Given the description of an element on the screen output the (x, y) to click on. 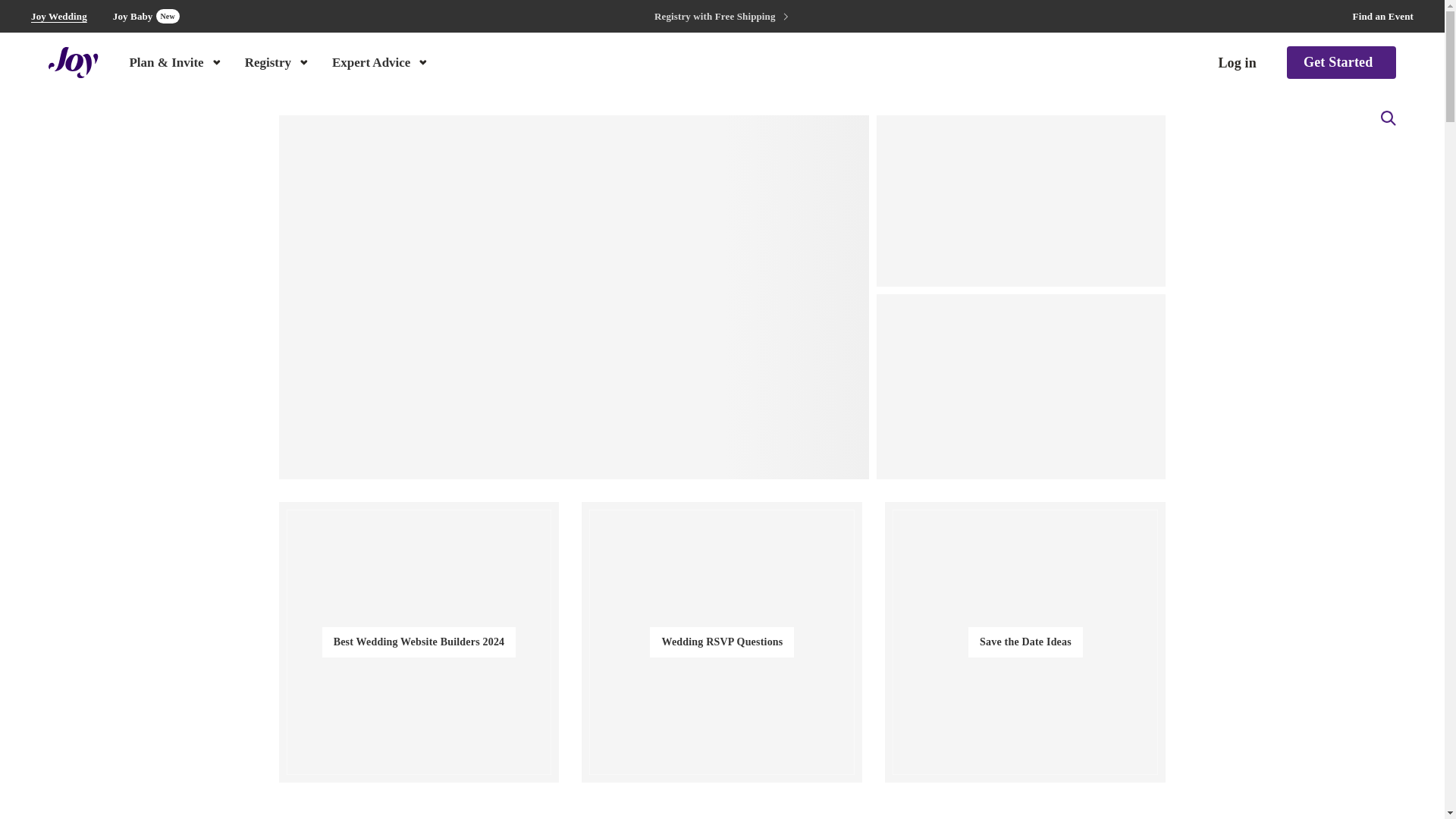
Expert Advice (380, 61)
Log in (1236, 62)
Find an Event (1382, 16)
How Much Do Wedding Invitations Cost? (146, 16)
Get Started (58, 16)
Registry (1341, 61)
